Given the description of an element on the screen output the (x, y) to click on. 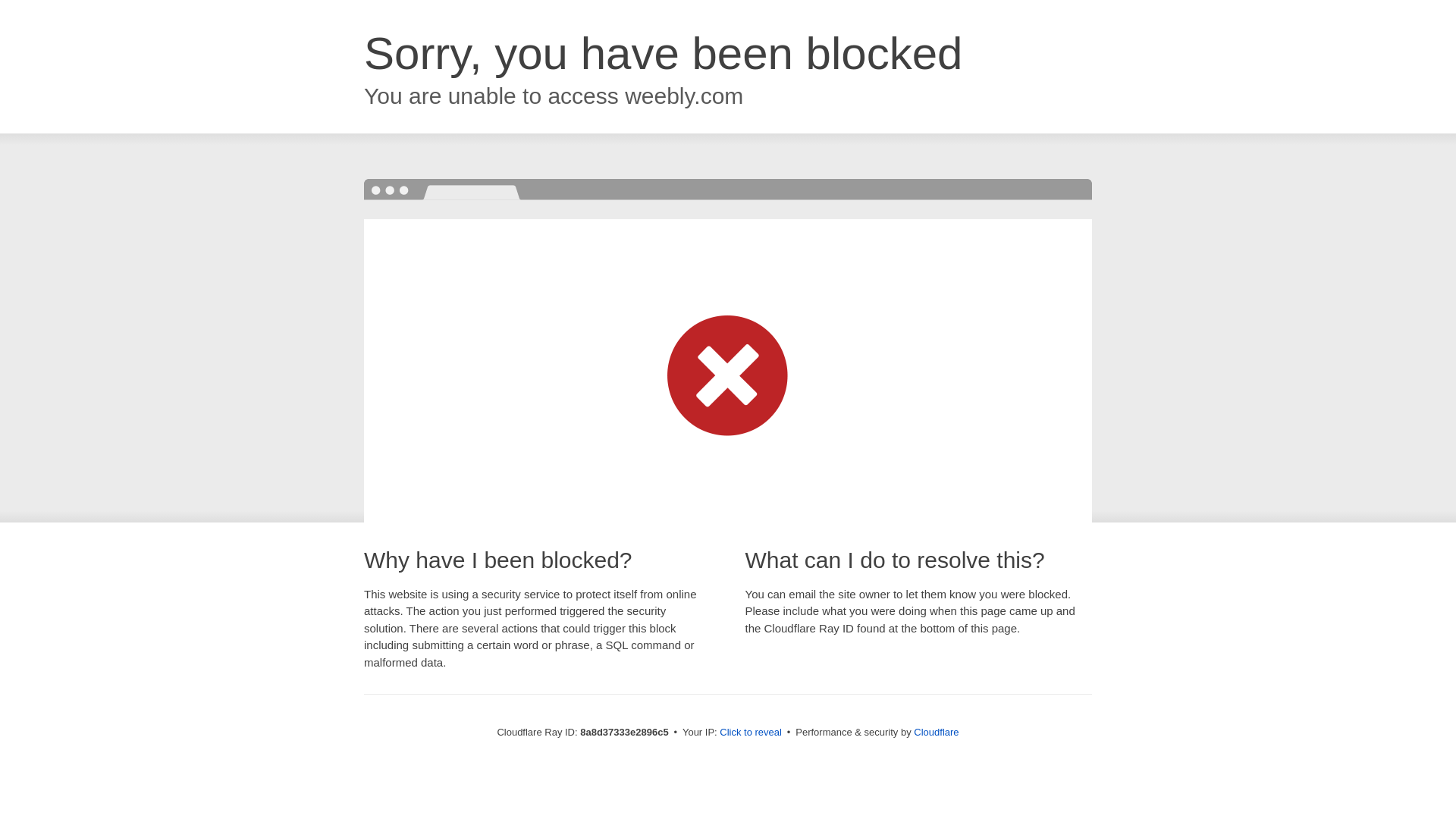
Cloudflare (936, 731)
Click to reveal (750, 732)
